Given the description of an element on the screen output the (x, y) to click on. 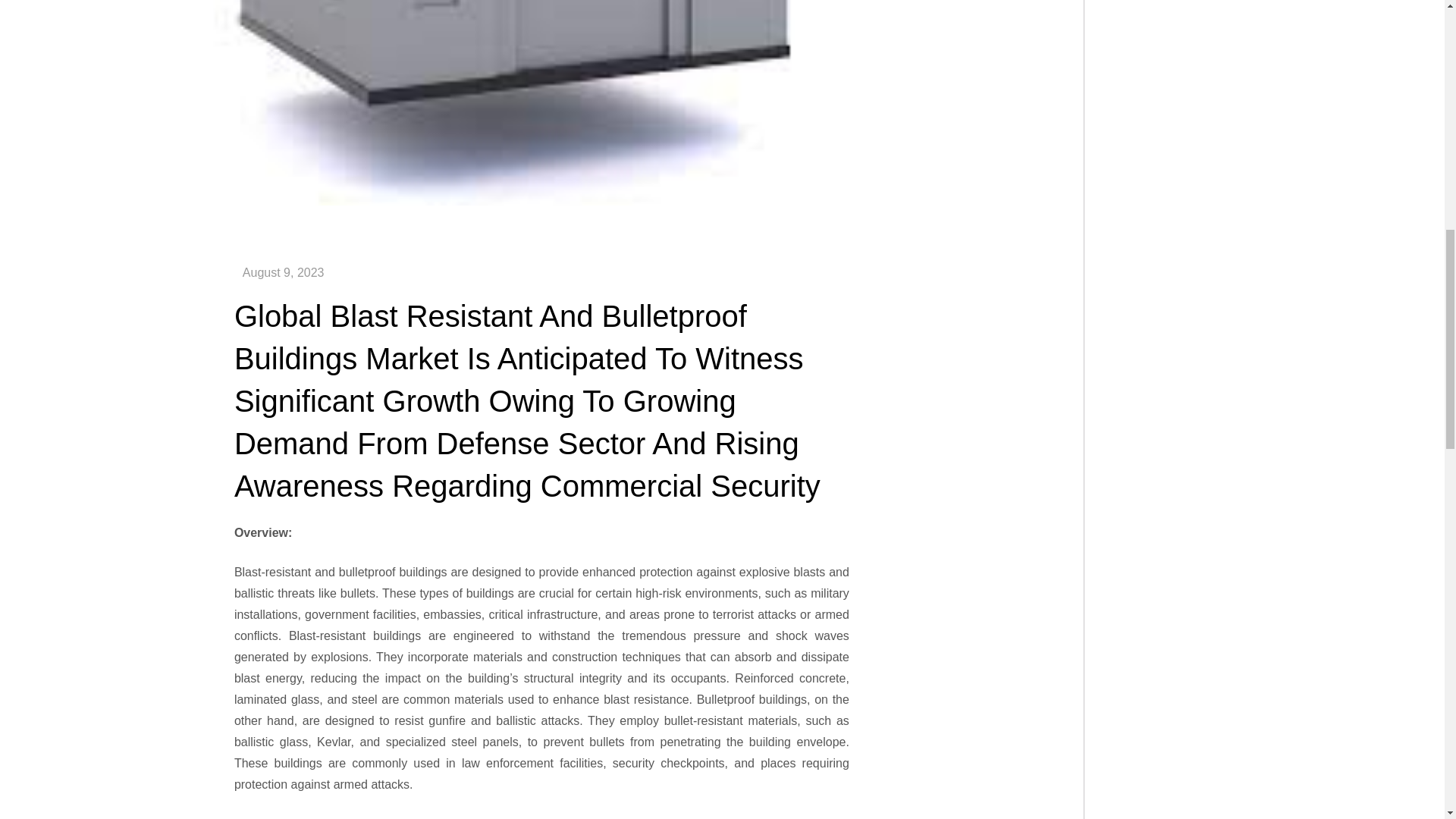
August 9, 2023 (283, 272)
